Given the description of an element on the screen output the (x, y) to click on. 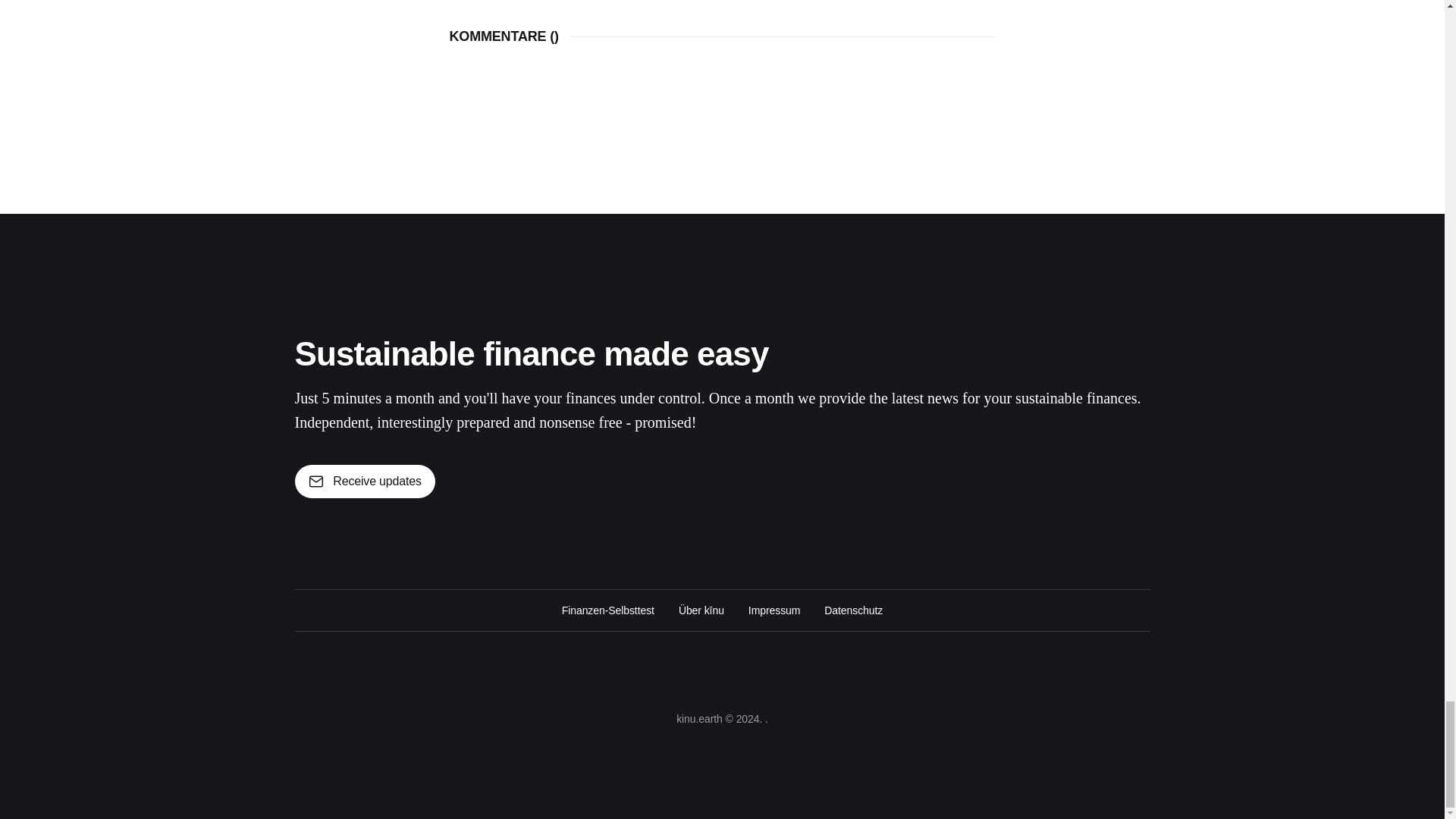
Finanzen-Selbsttest (607, 610)
Receive updates (364, 481)
